Given the description of an element on the screen output the (x, y) to click on. 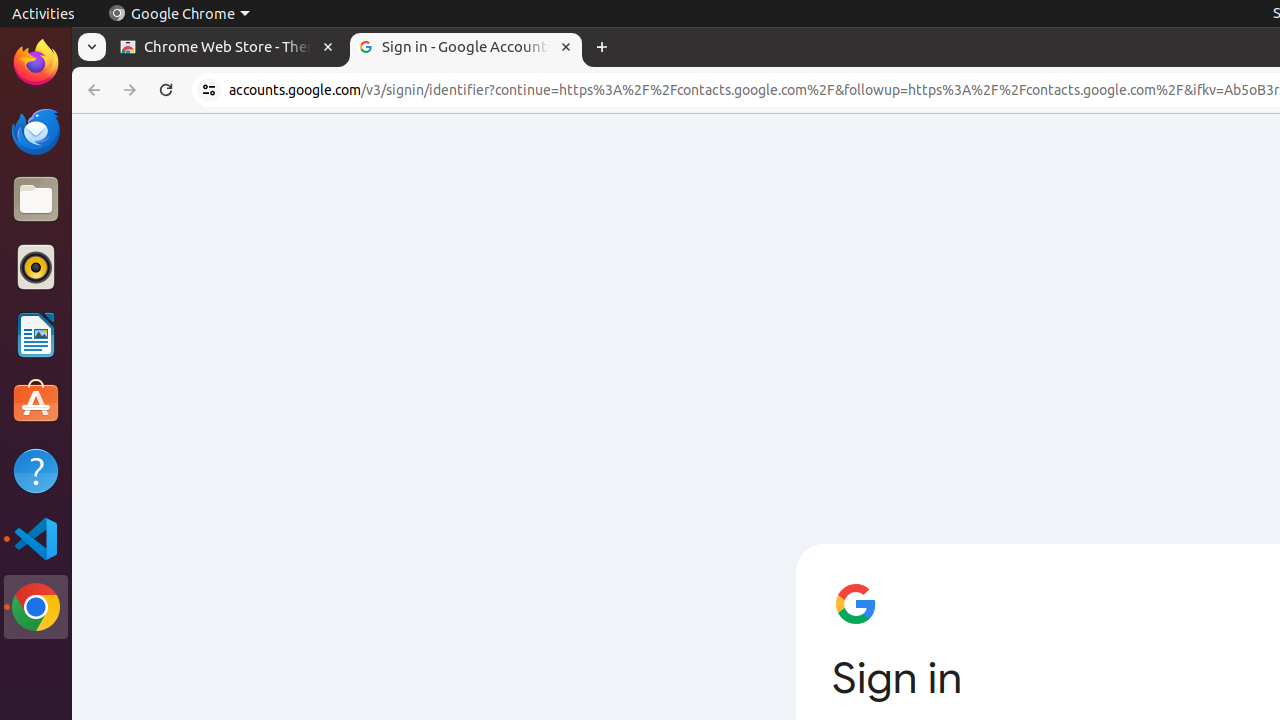
Sign in - Google Accounts Element type: page-tab (466, 47)
